Given the description of an element on the screen output the (x, y) to click on. 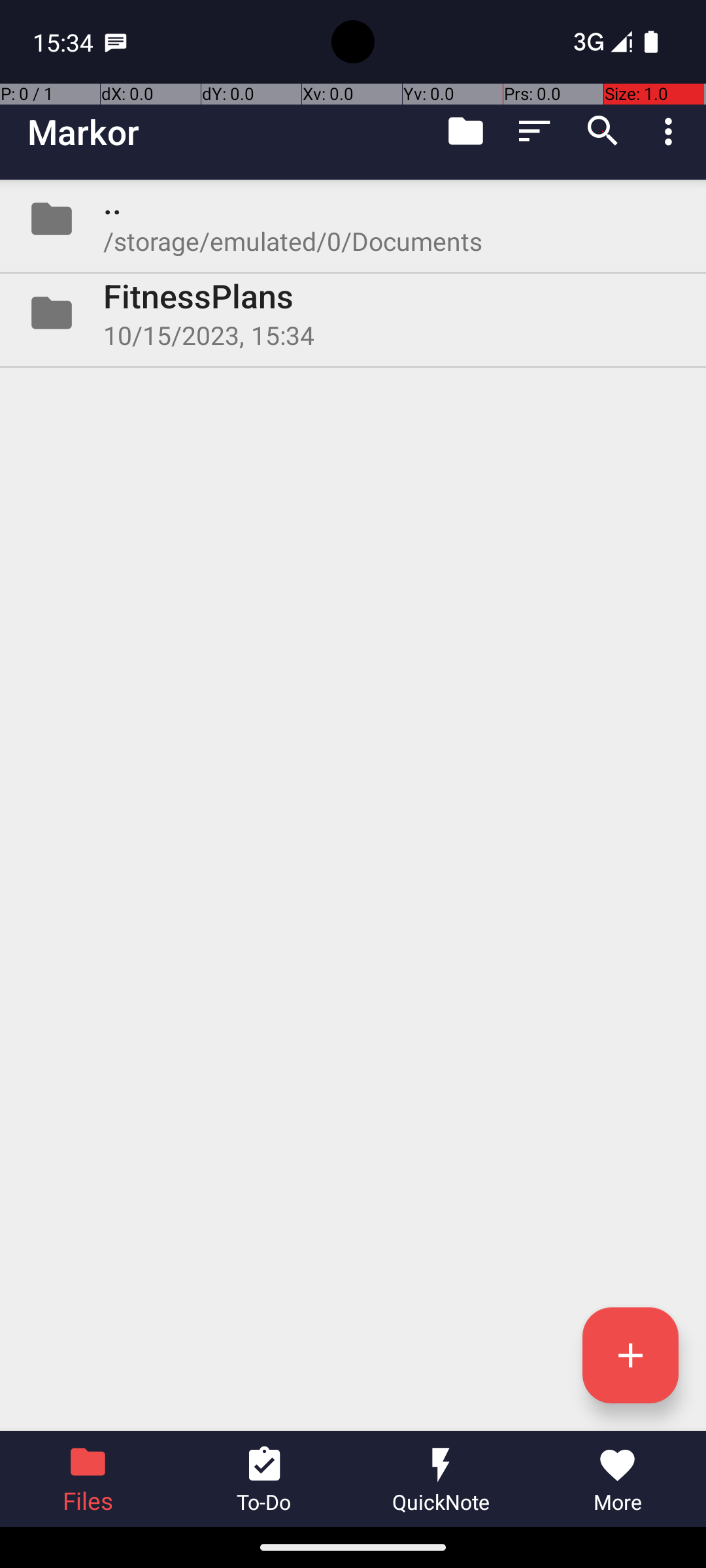
Folder .. /storage/emulated/0/Documents Element type: android.widget.LinearLayout (353, 218)
Folder FitnessPlans 10/15/2023, 15:34 Element type: android.widget.LinearLayout (353, 312)
